Given the description of an element on the screen output the (x, y) to click on. 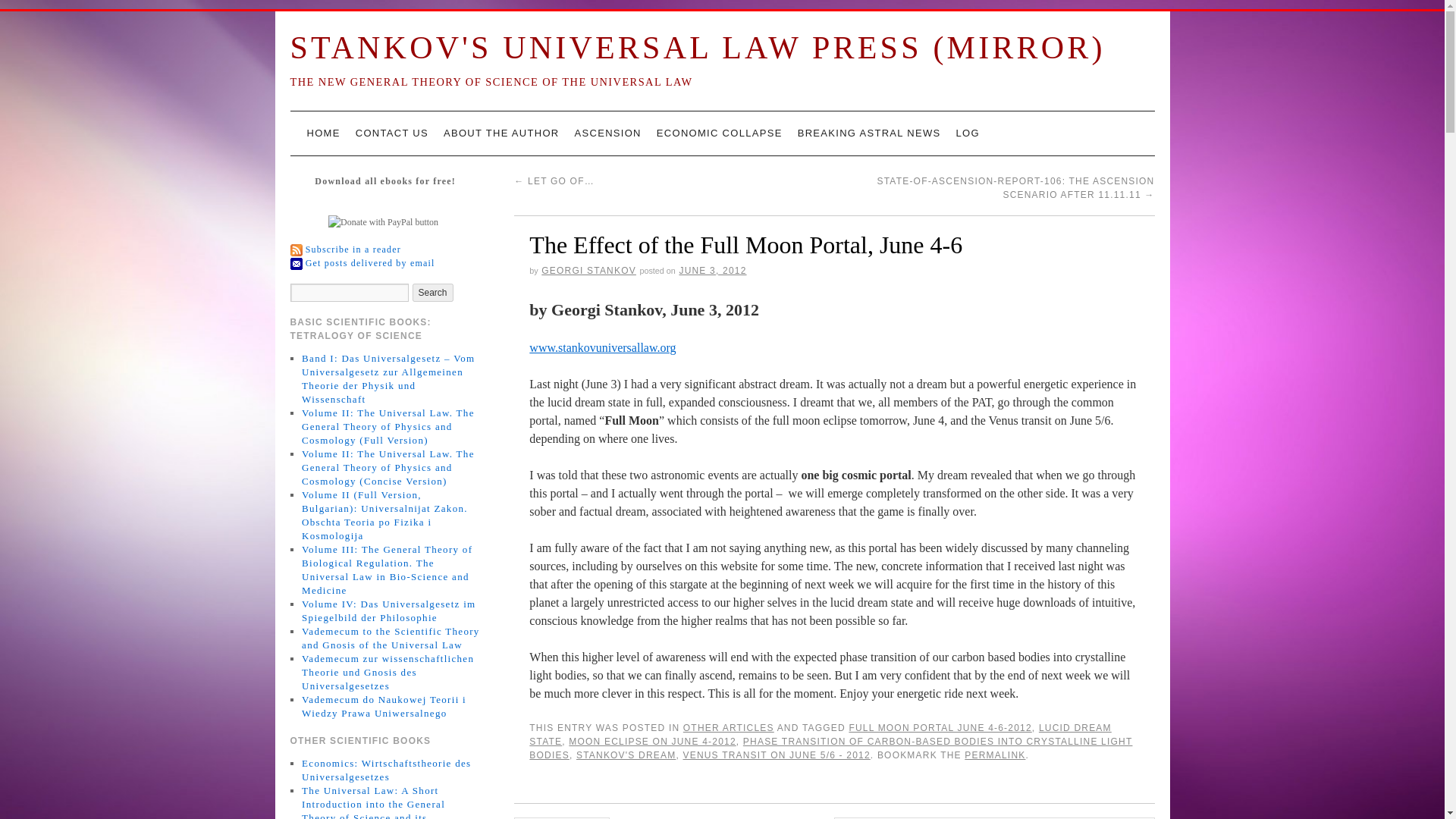
GEORGI STANKOV (588, 270)
www.stankovuniversallaw.org (602, 347)
5:50 pm (711, 270)
PayPal - The safer, easier way to pay online! (383, 222)
Economics: Wirtschaftstheorie des Universalgesetzes (385, 769)
STANKOV'S DREAM (625, 755)
LUCID DREAM STATE (819, 734)
Permalink to The Effect of the Full Moon Portal, June 4-6 (994, 755)
Vademecum do Naukowej Teorii i Wiedzy Prawa Uniwersalnego (383, 706)
ECONOMIC COLLAPSE (719, 133)
